Given the description of an element on the screen output the (x, y) to click on. 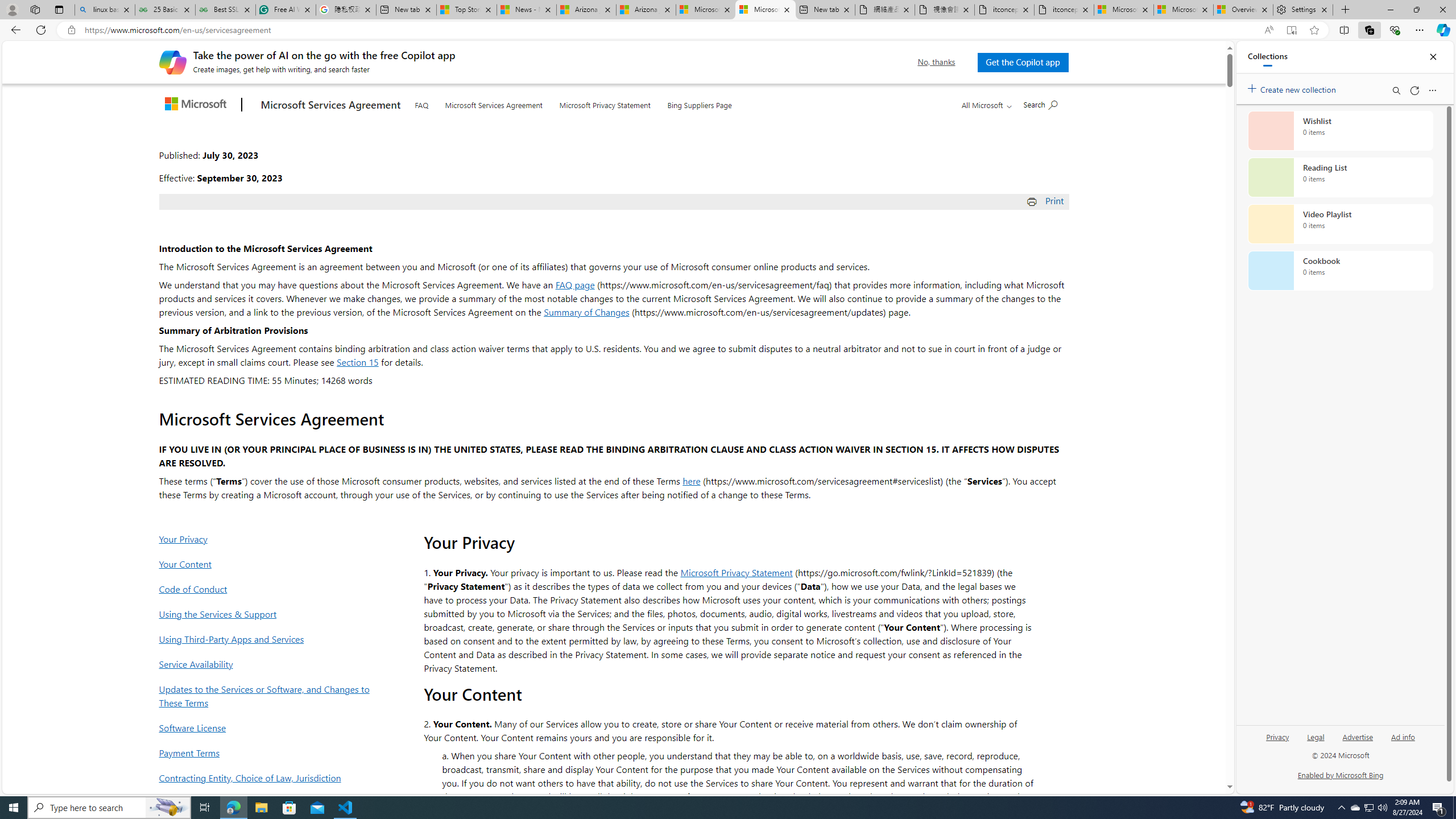
Summary of Changes (585, 311)
Reading List collection, 0 items (1339, 177)
Create images, get help with writing, and search faster (172, 62)
FAQ (421, 103)
Using Third-Party Apps and Services (267, 639)
Contracting Entity, Choice of Law, Jurisdiction (267, 777)
Print (1046, 200)
